Given the description of an element on the screen output the (x, y) to click on. 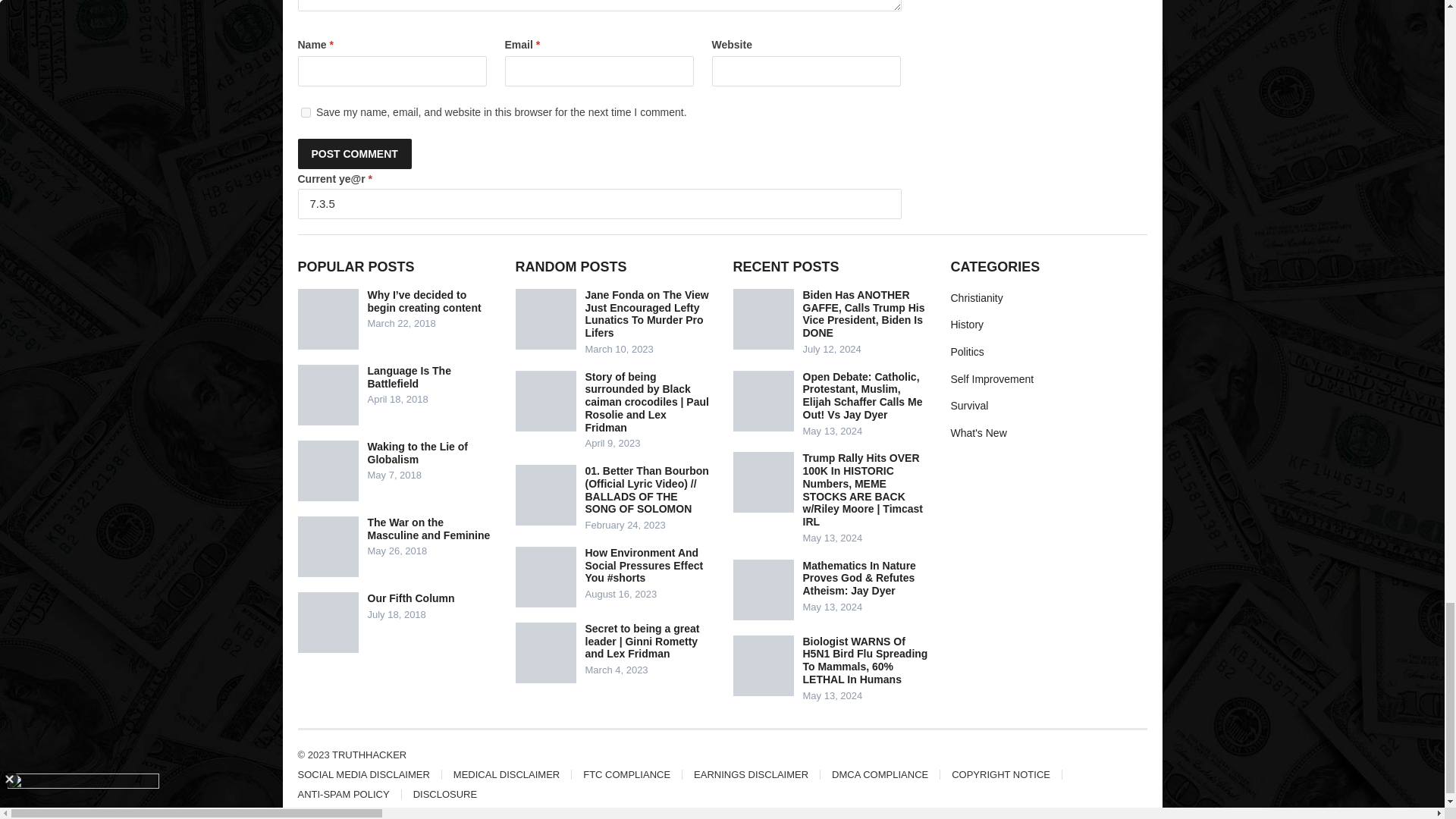
yes (304, 112)
7.3.5 (599, 204)
Post Comment (353, 153)
